Given the description of an element on the screen output the (x, y) to click on. 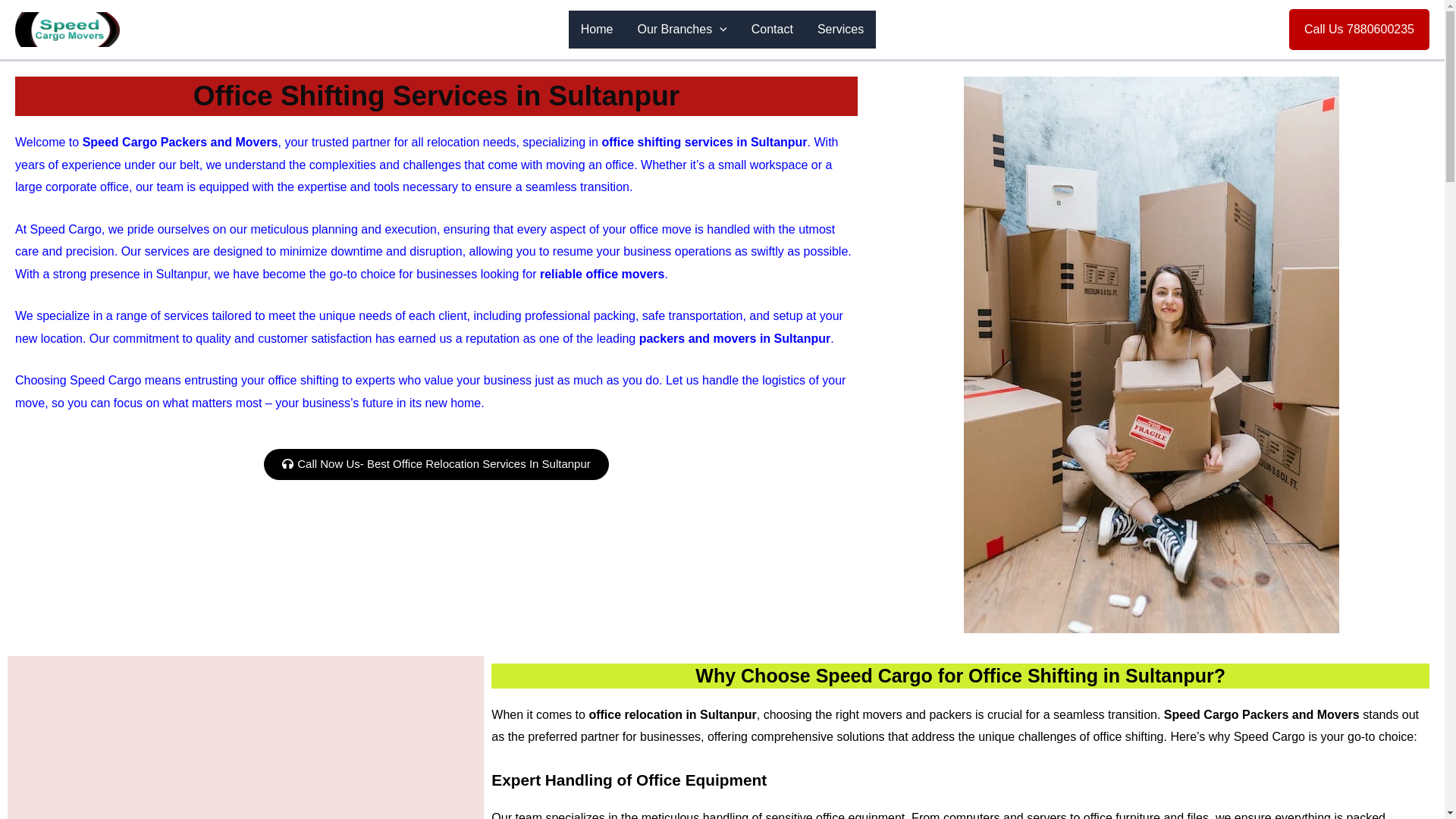
Call Us 7880600235 (1358, 29)
Contact (772, 29)
Our Branches (681, 29)
Home (597, 29)
Services (840, 29)
